Given the description of an element on the screen output the (x, y) to click on. 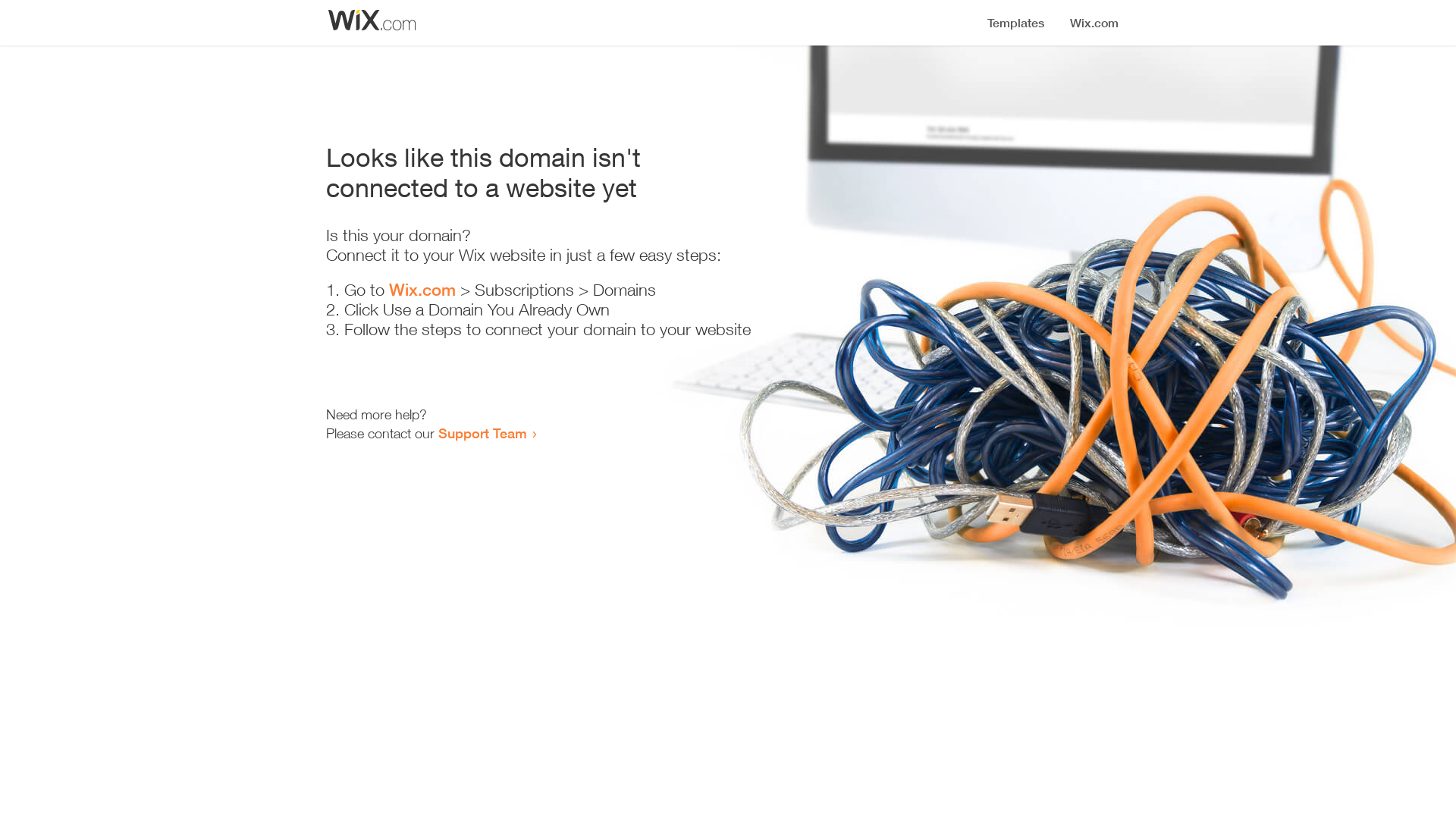
Wix.com Element type: text (422, 289)
Support Team Element type: text (482, 432)
